Given the description of an element on the screen output the (x, y) to click on. 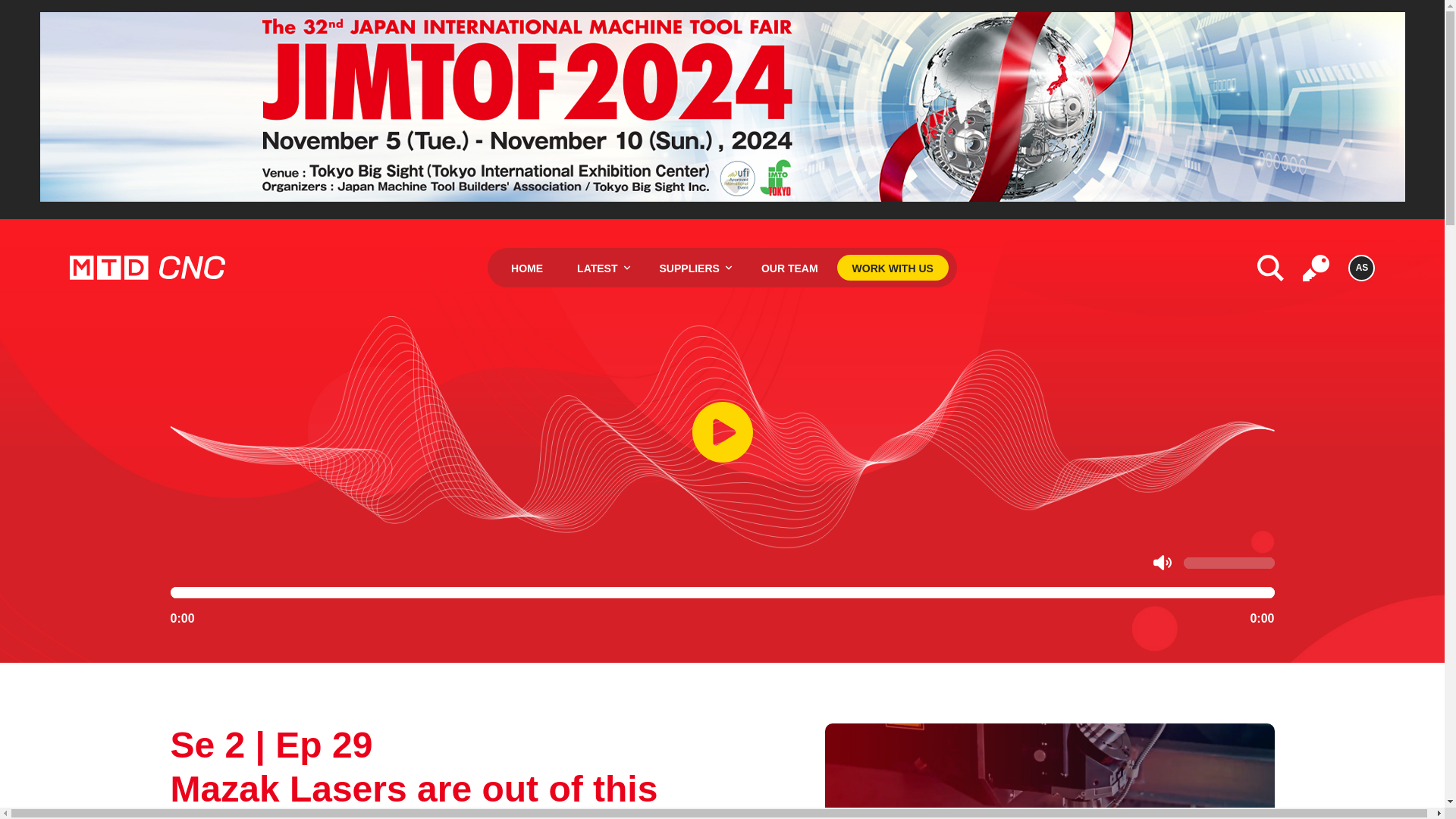
WORK WITH US (893, 267)
Analytics (1316, 267)
HOME (526, 267)
Search (1270, 267)
OUR TEAM (788, 267)
LATEST (601, 267)
SUPPLIERS (693, 267)
Home (147, 267)
Analytics (1316, 267)
